Given the description of an element on the screen output the (x, y) to click on. 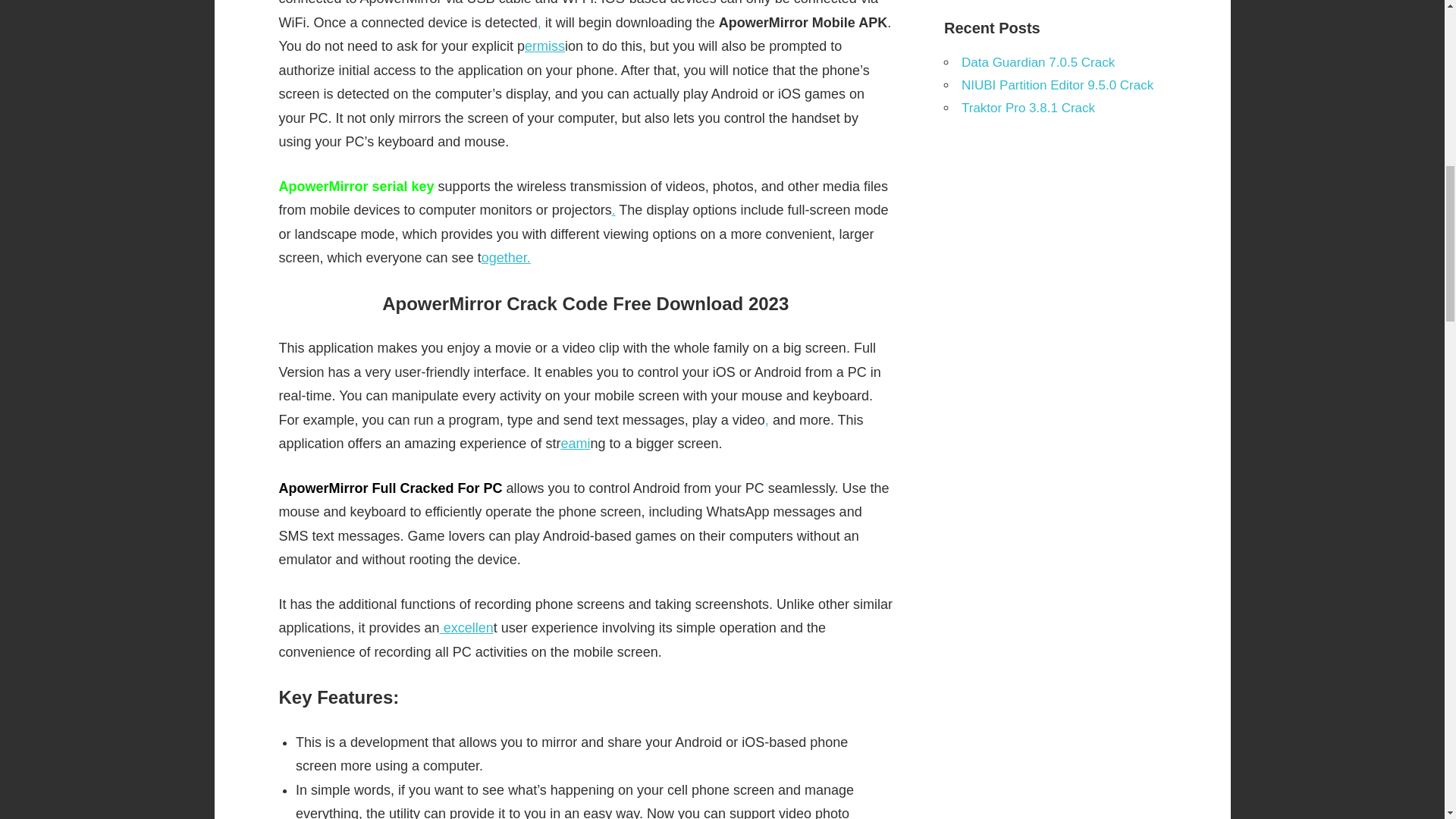
ermiss (544, 46)
ogether. (506, 257)
excellen (466, 627)
eami (574, 443)
